Given the description of an element on the screen output the (x, y) to click on. 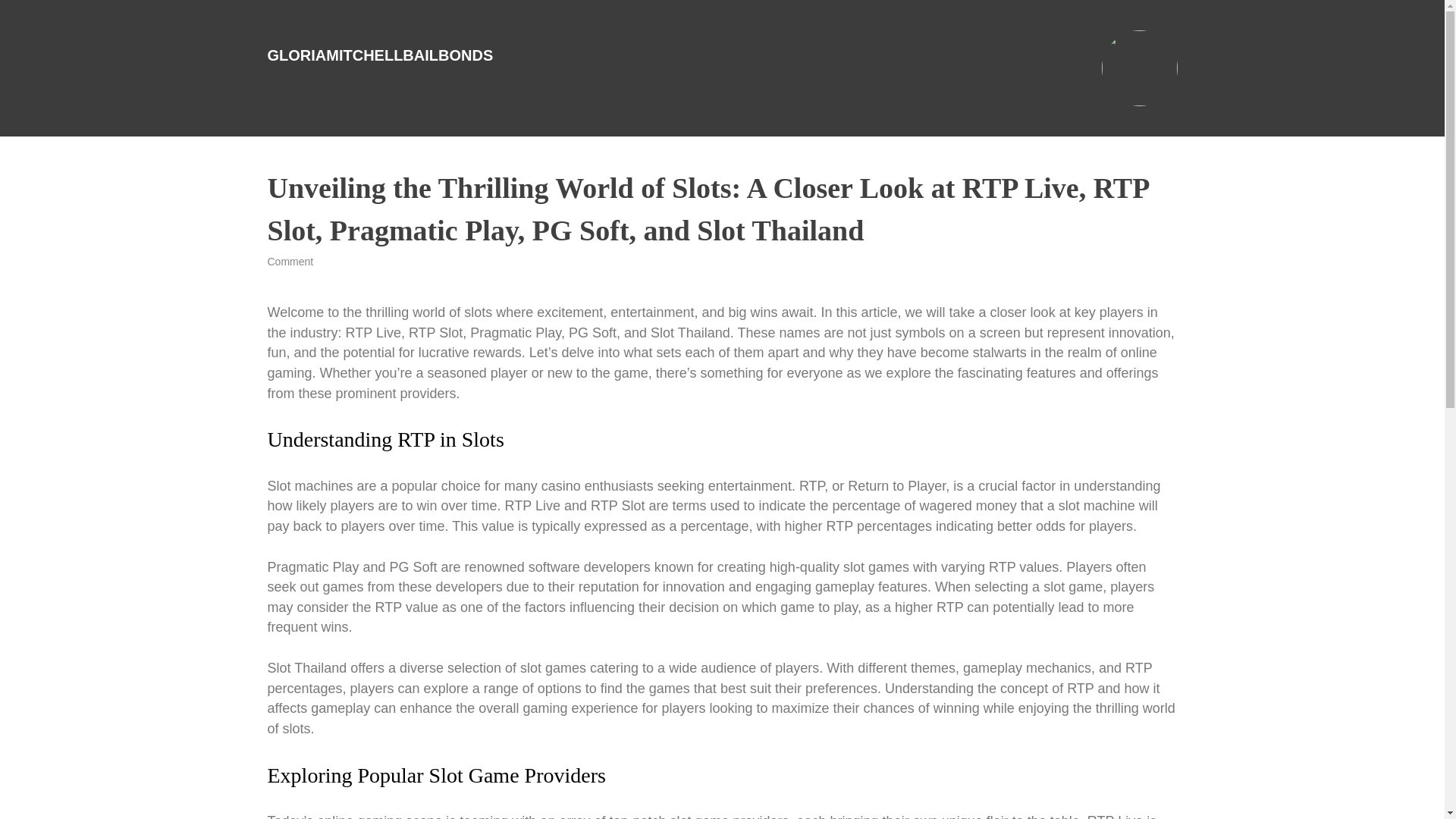
gloriamitchellbailbonds (379, 54)
Comment (289, 261)
GLORIAMITCHELLBAILBONDS (379, 54)
